Given the description of an element on the screen output the (x, y) to click on. 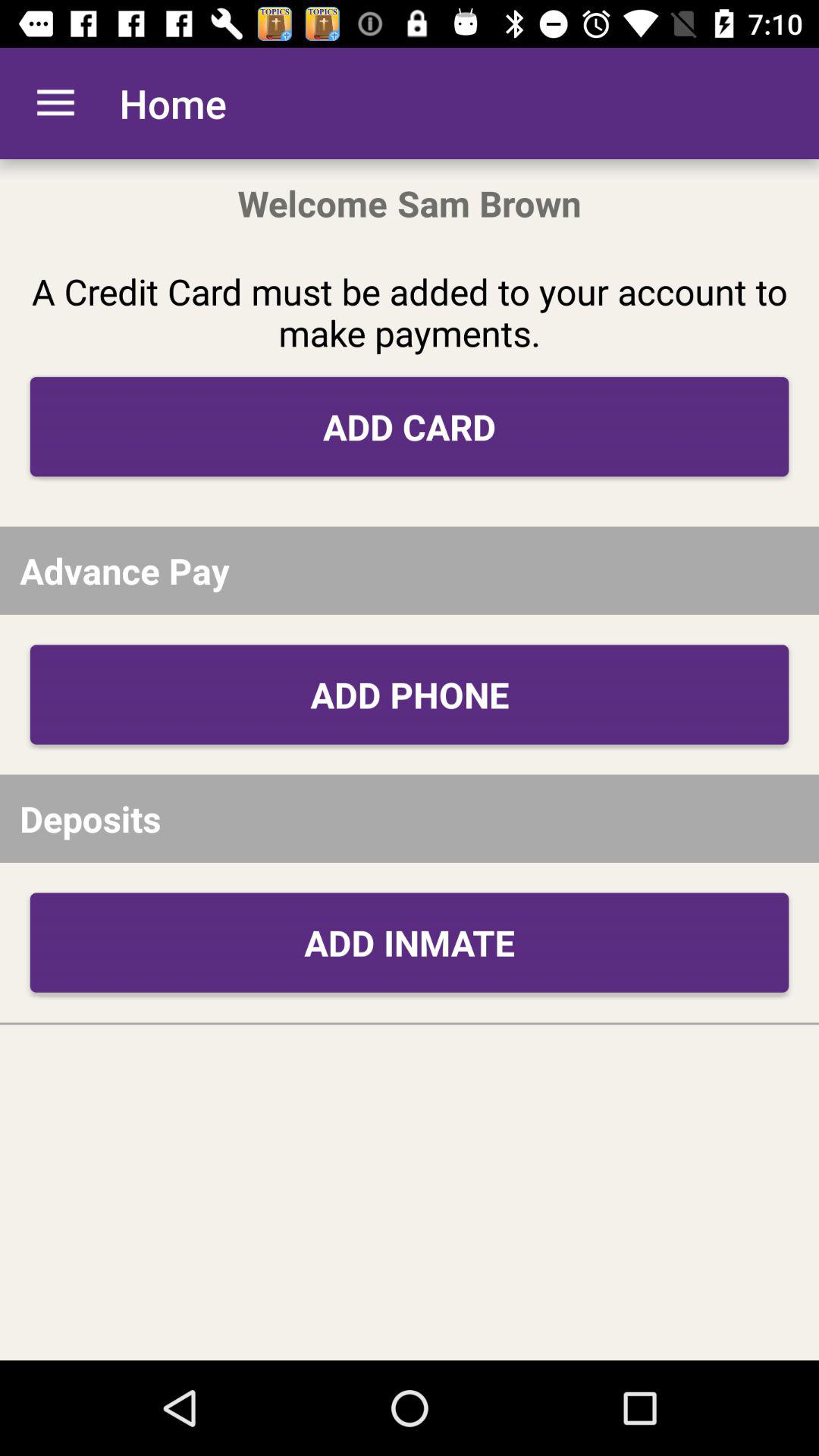
swipe until add phone item (409, 694)
